Given the description of an element on the screen output the (x, y) to click on. 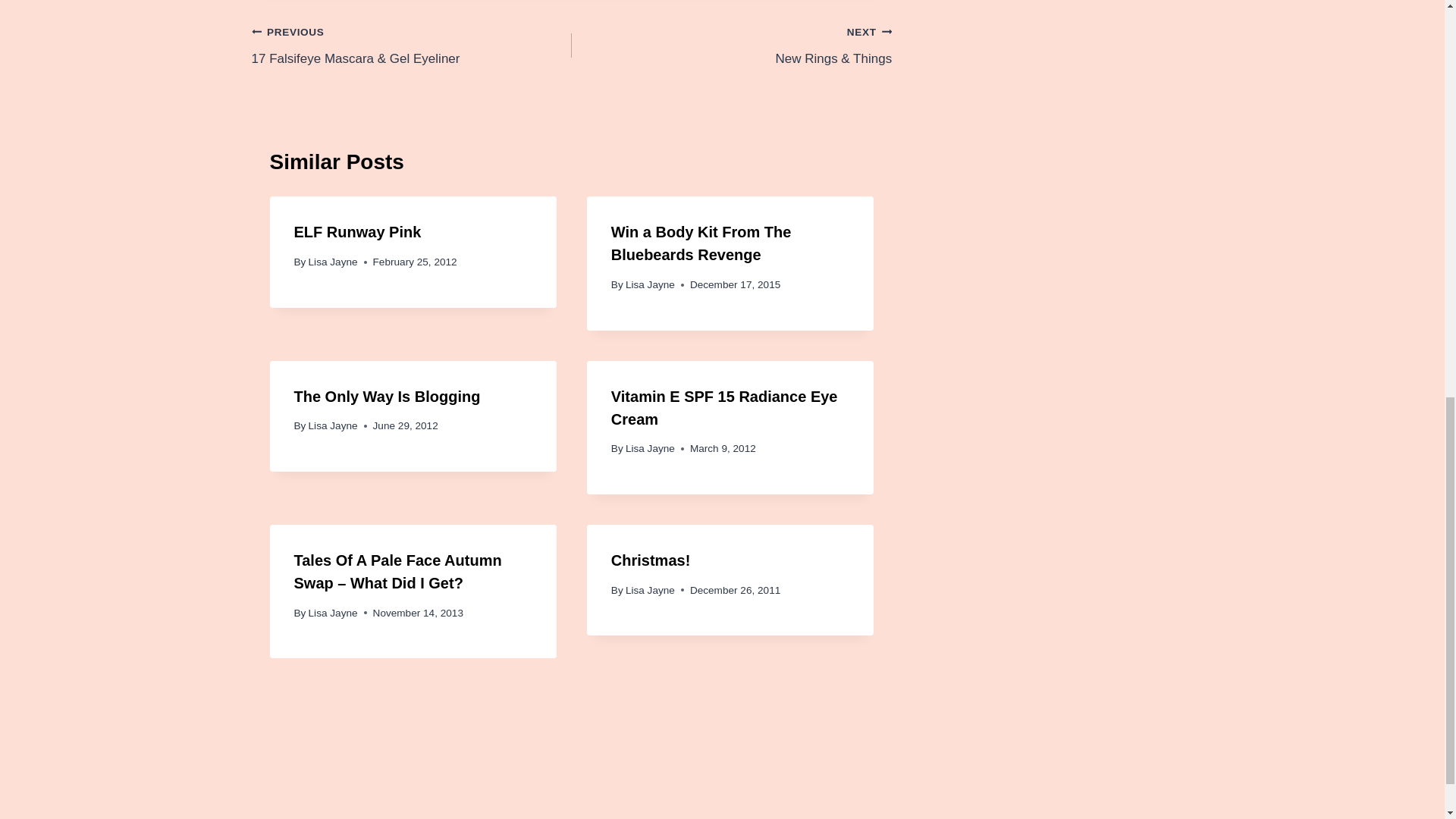
Christmas! (650, 560)
Lisa Jayne (333, 261)
Lisa Jayne (333, 425)
Lisa Jayne (650, 448)
Win a Body Kit From The Bluebeards Revenge (701, 242)
The Only Way Is Blogging (387, 396)
Lisa Jayne (650, 590)
Lisa Jayne (650, 284)
ELF Runway Pink (358, 231)
Vitamin E SPF 15 Radiance Eye Cream (724, 407)
Lisa Jayne (333, 613)
